Given the description of an element on the screen output the (x, y) to click on. 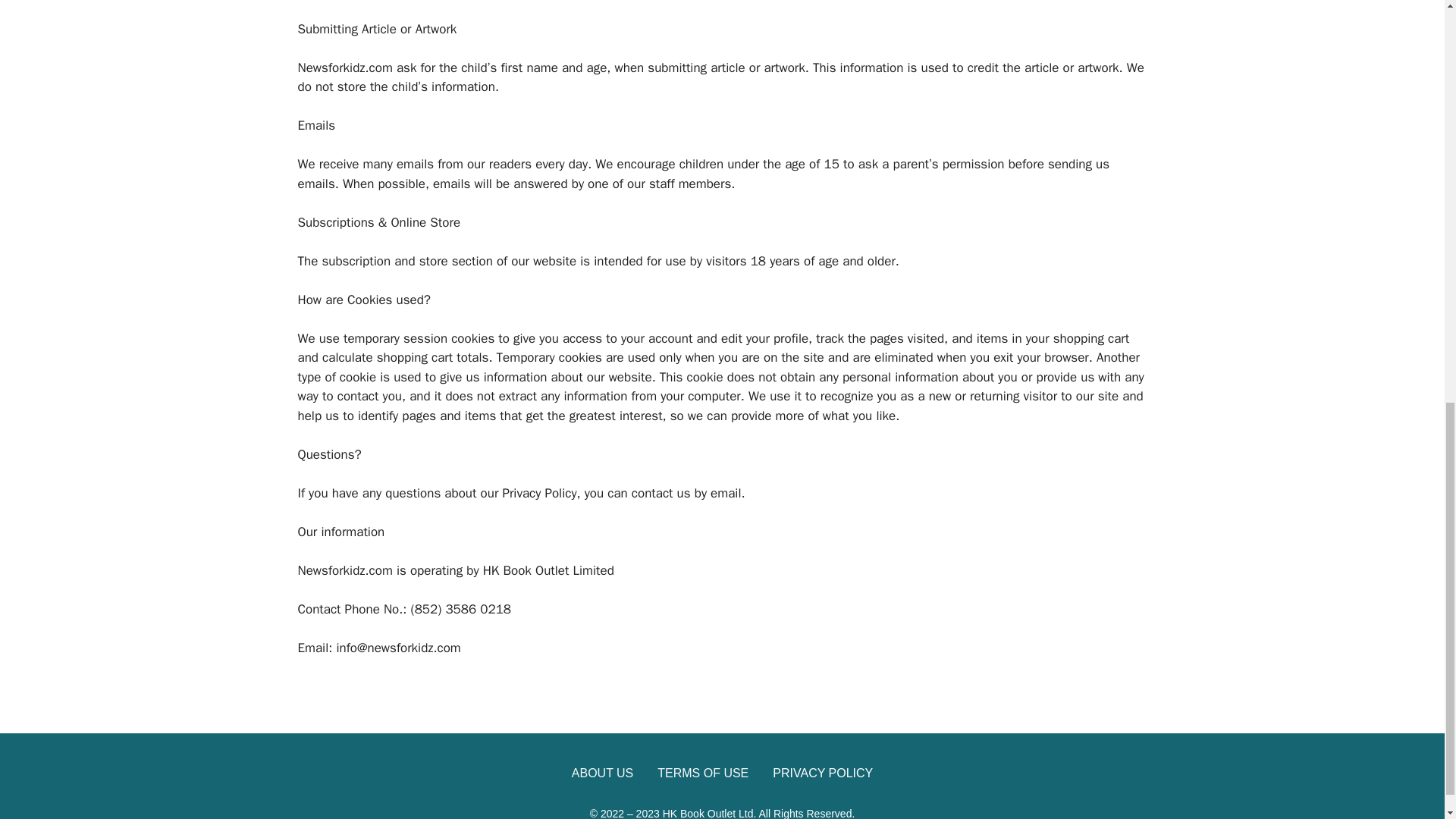
PRIVACY POLICY (822, 773)
TERMS OF USE (702, 773)
ABOUT US (602, 773)
